Given the description of an element on the screen output the (x, y) to click on. 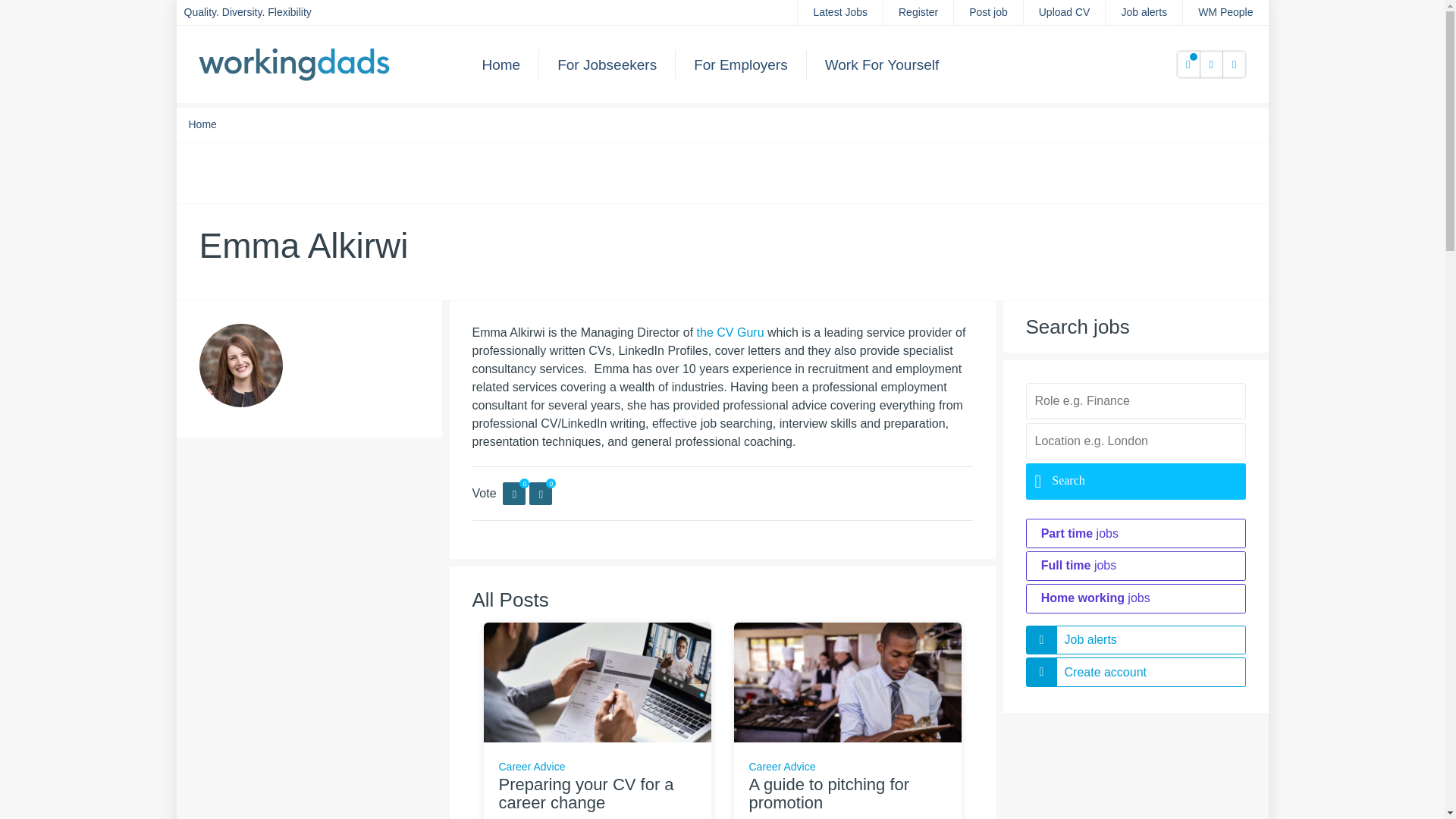
Career Advice (532, 766)
Preparing your CV for a career change (586, 793)
Upload CV (1064, 12)
WM People (1225, 12)
For Employers (740, 64)
Post job (988, 12)
the CV Guru (730, 332)
A guide to pitching for promotion (846, 680)
Home (201, 123)
Register (918, 12)
Home (501, 64)
Work For Yourself (882, 64)
Latest Jobs (839, 12)
Preparing your CV for a career change (597, 680)
Job alerts (1143, 12)
